Given the description of an element on the screen output the (x, y) to click on. 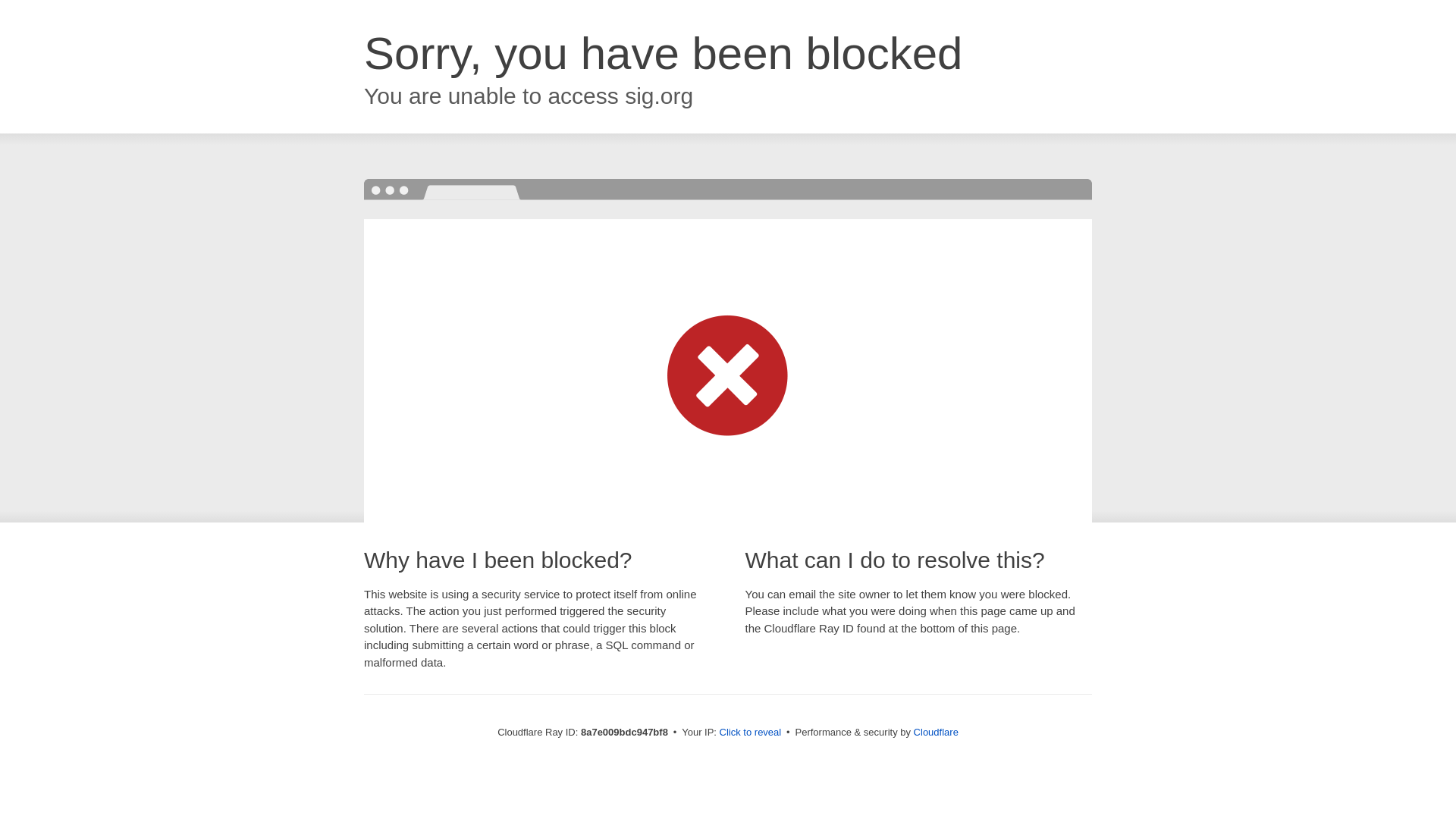
Click to reveal (750, 732)
Cloudflare (936, 731)
